Given the description of an element on the screen output the (x, y) to click on. 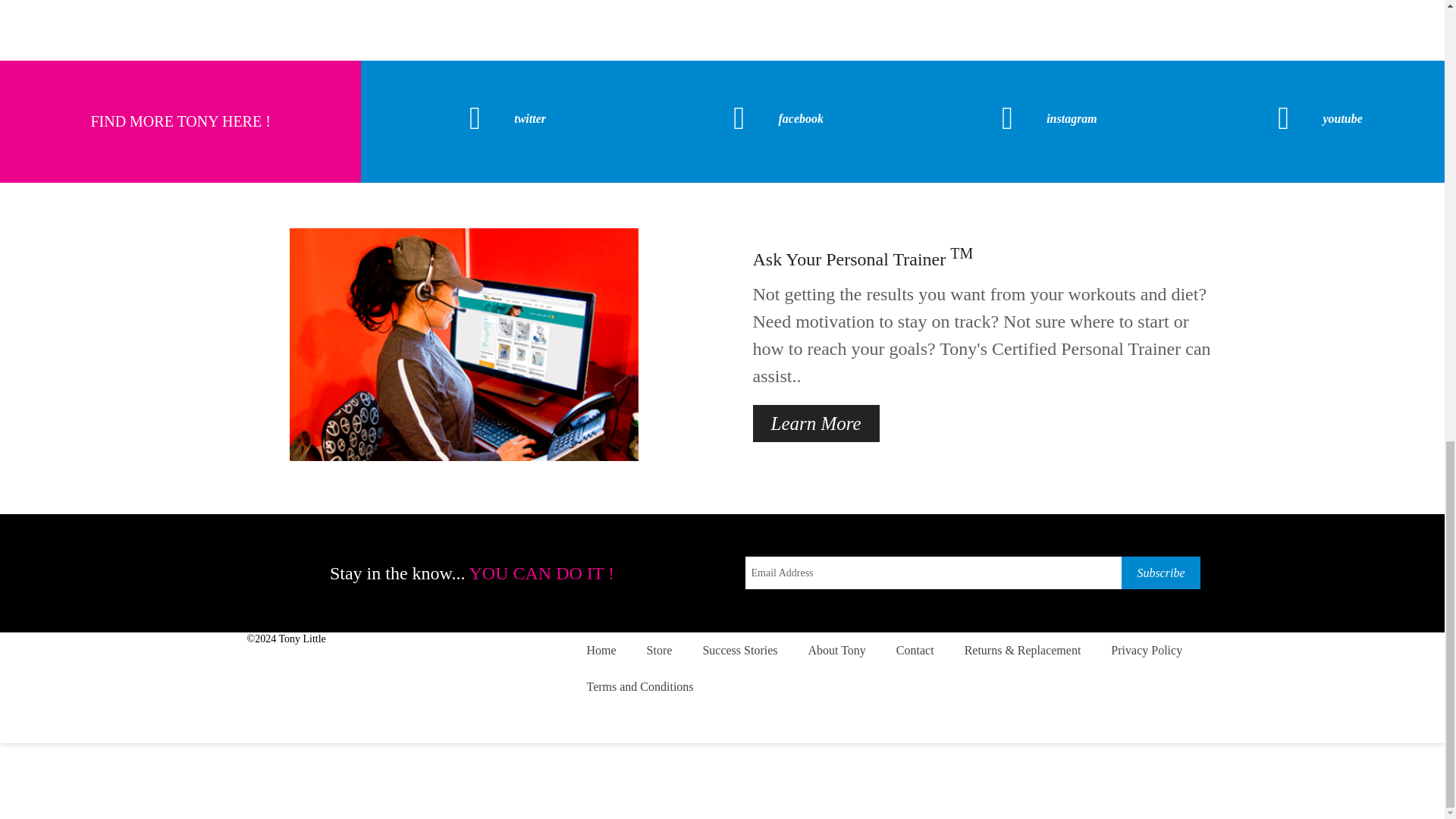
Subscribe (1160, 572)
Tony Little (301, 638)
tl-homepage-support-e1499326562674.png (464, 344)
